Given the description of an element on the screen output the (x, y) to click on. 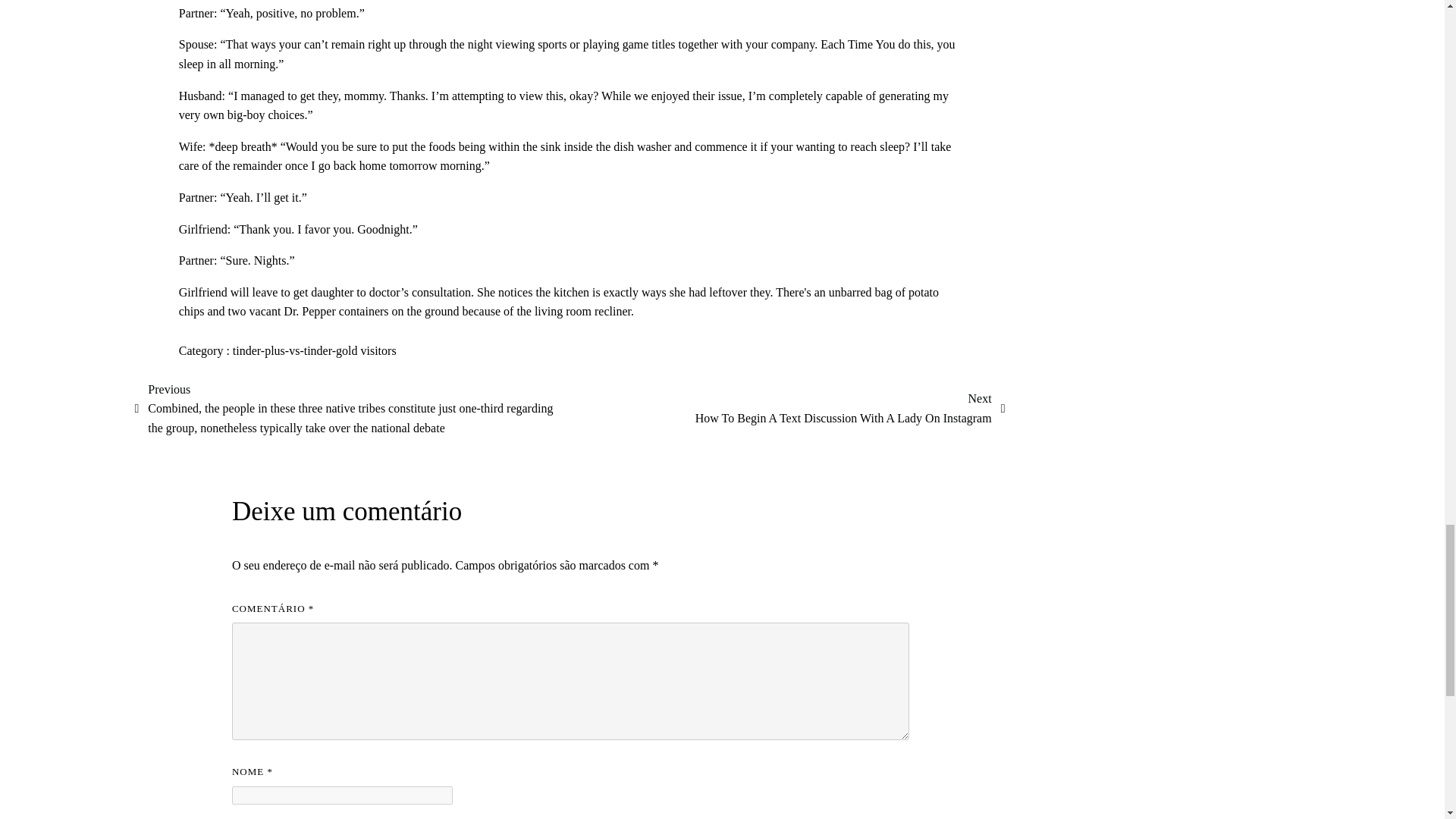
tinder-plus-vs-tinder-gold visitors (850, 408)
